Given the description of an element on the screen output the (x, y) to click on. 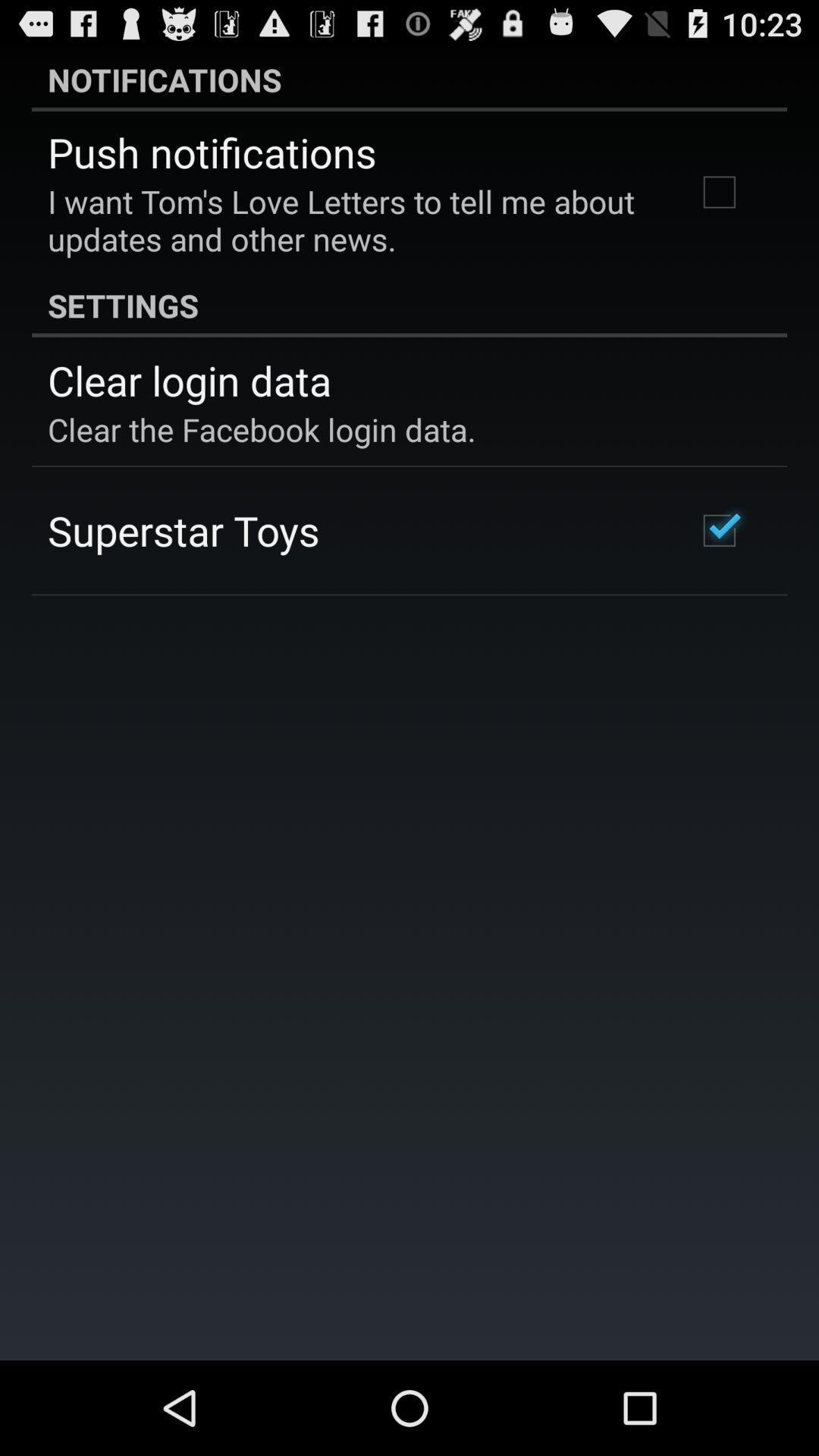
tap settings item (409, 305)
